Given the description of an element on the screen output the (x, y) to click on. 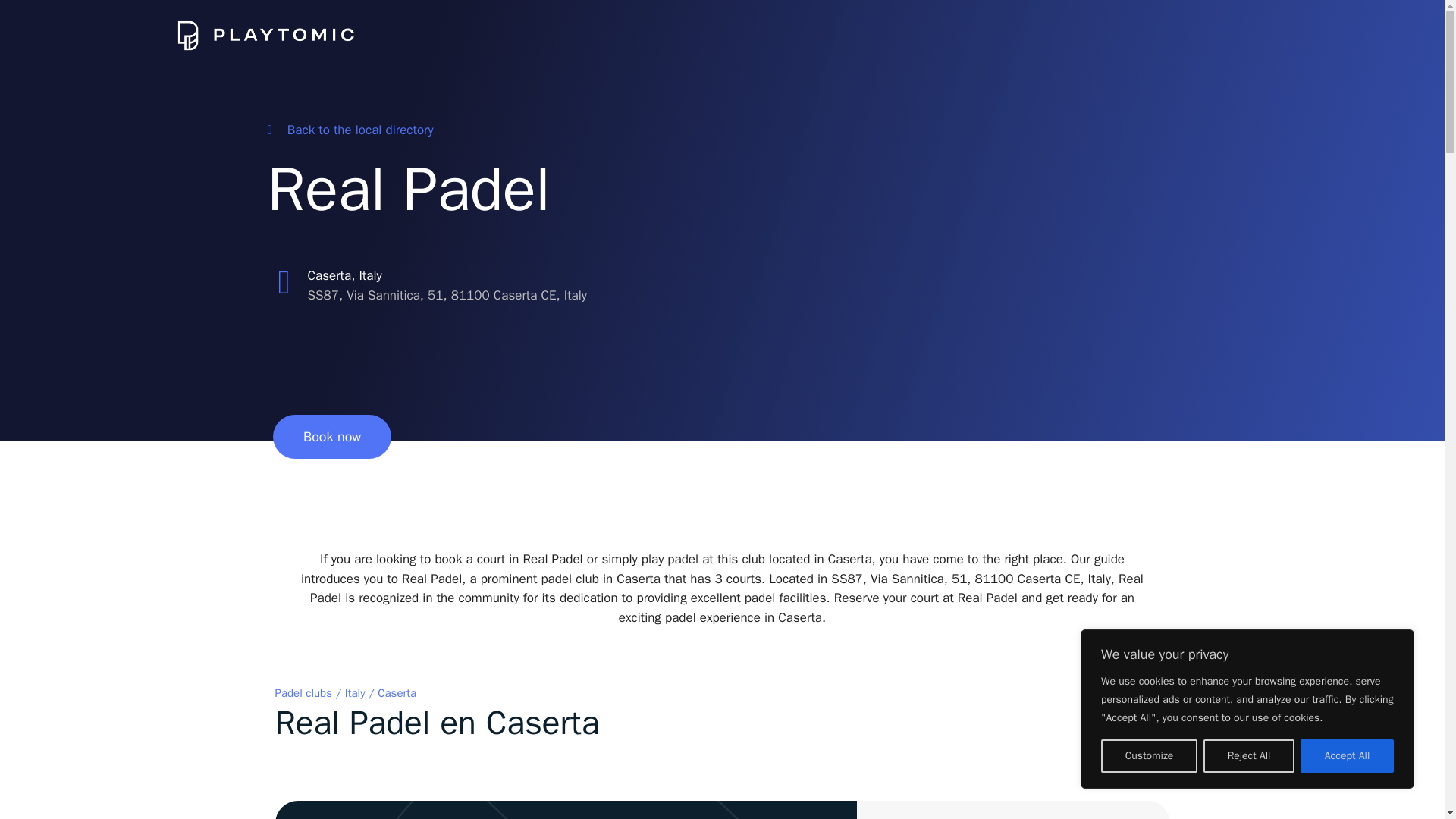
Back to the local directory (349, 130)
Customize (1148, 756)
Caserta (396, 693)
Accept All (1346, 756)
Reject All (1249, 756)
Italy (355, 693)
Padel clubs (303, 693)
Book now (332, 436)
